Given the description of an element on the screen output the (x, y) to click on. 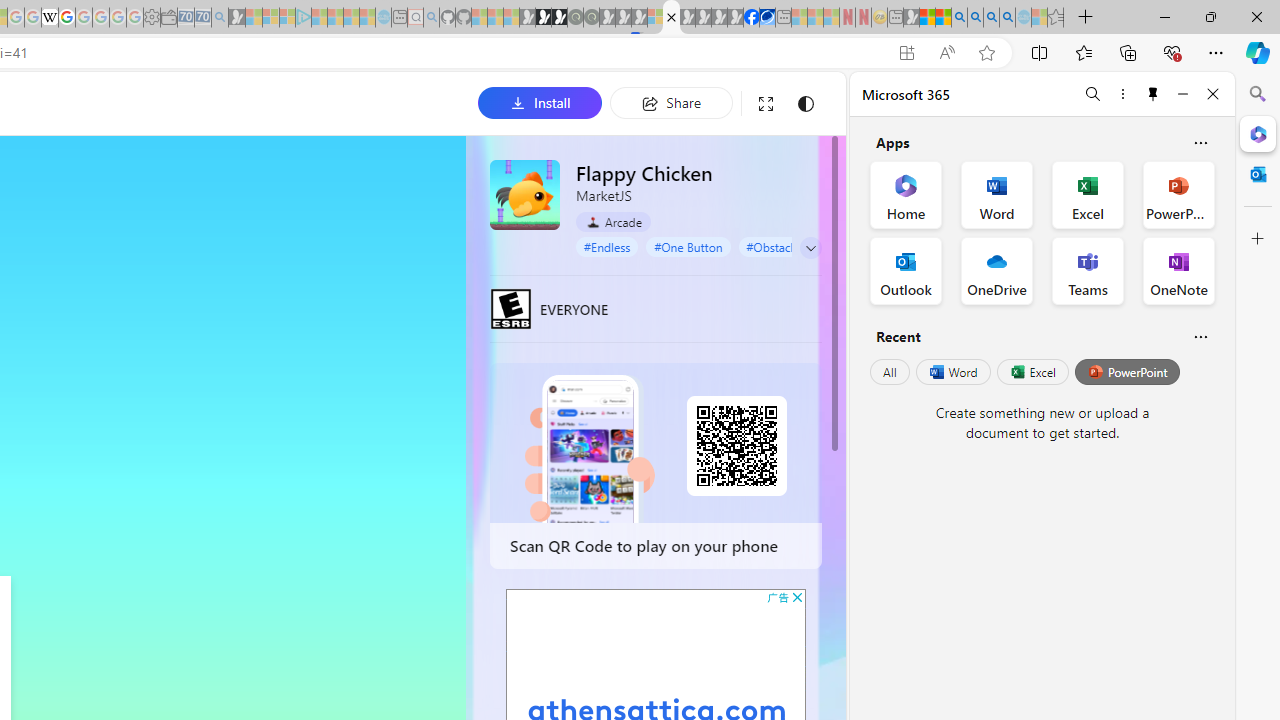
AutomationID: cbb (797, 596)
Google Chrome Internet Browser Download - Search Images (1007, 17)
OneNote Office App (1178, 270)
MSN - Sleeping (911, 17)
Microsoft account | Privacy - Sleeping (287, 17)
2009 Bing officially replaced Live Search on June 3 - Search (975, 17)
Sign in to your account - Sleeping (655, 17)
PowerPoint (1127, 372)
